Given the description of an element on the screen output the (x, y) to click on. 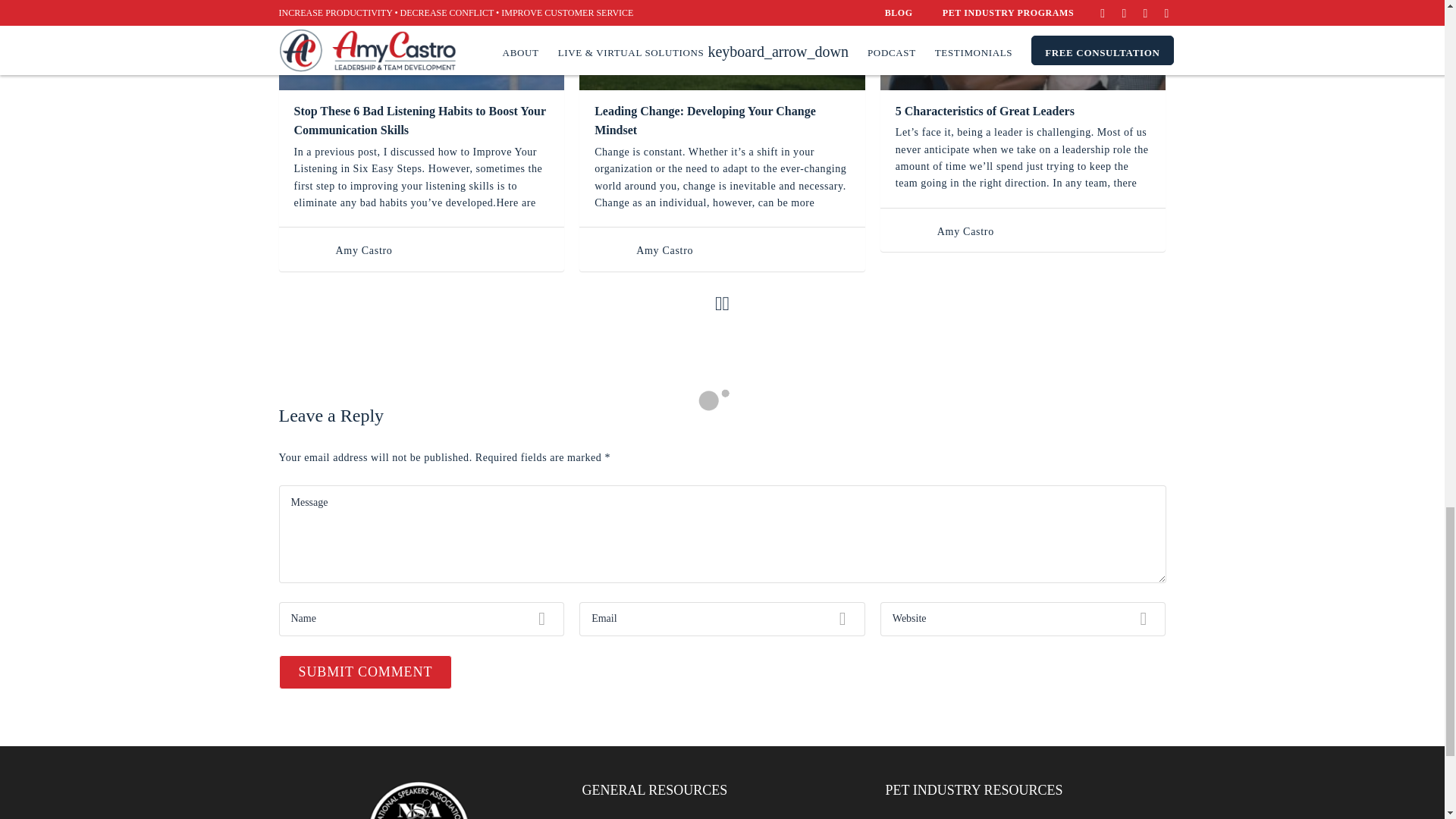
Leading Change: Developing Your Change Mindset (721, 45)
Submit Comment (365, 672)
